Given the description of an element on the screen output the (x, y) to click on. 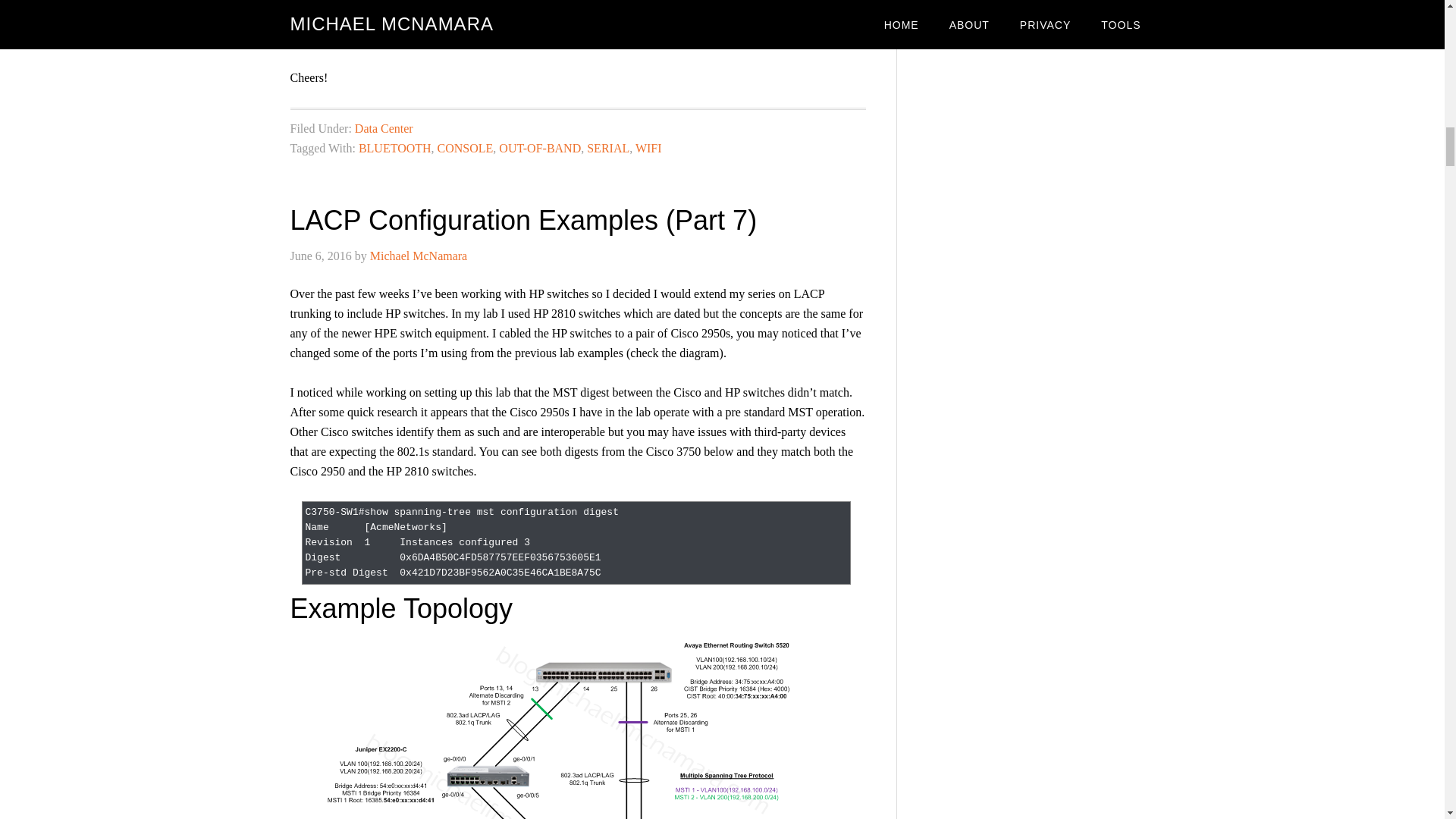
BLUETOOTH (394, 146)
OUT-OF-BAND (539, 146)
Michael McNamara (418, 254)
Data Center (384, 127)
WIFI (648, 146)
SERIAL (607, 146)
CONSOLE (465, 146)
